Given the description of an element on the screen output the (x, y) to click on. 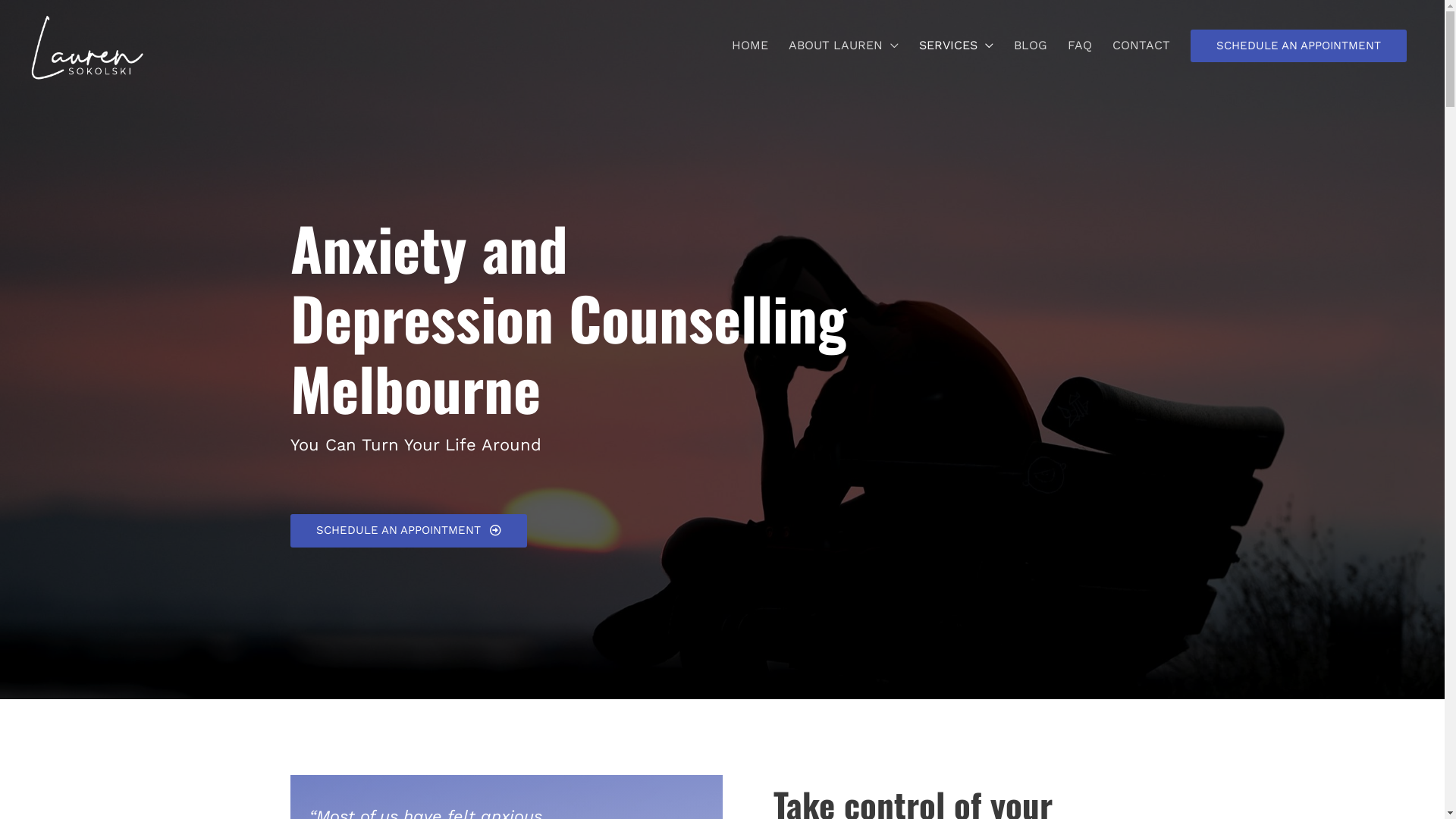
ABOUT LAUREN Element type: text (844, 45)
CONTACT Element type: text (1142, 45)
FAQ Element type: text (1080, 45)
BLOG Element type: text (1031, 45)
SCHEDULE AN APPOINTMENT Element type: text (1298, 45)
SERVICES Element type: text (957, 45)
HOME Element type: text (750, 45)
SCHEDULE AN APPOINTMENT Element type: text (407, 530)
